Given the description of an element on the screen output the (x, y) to click on. 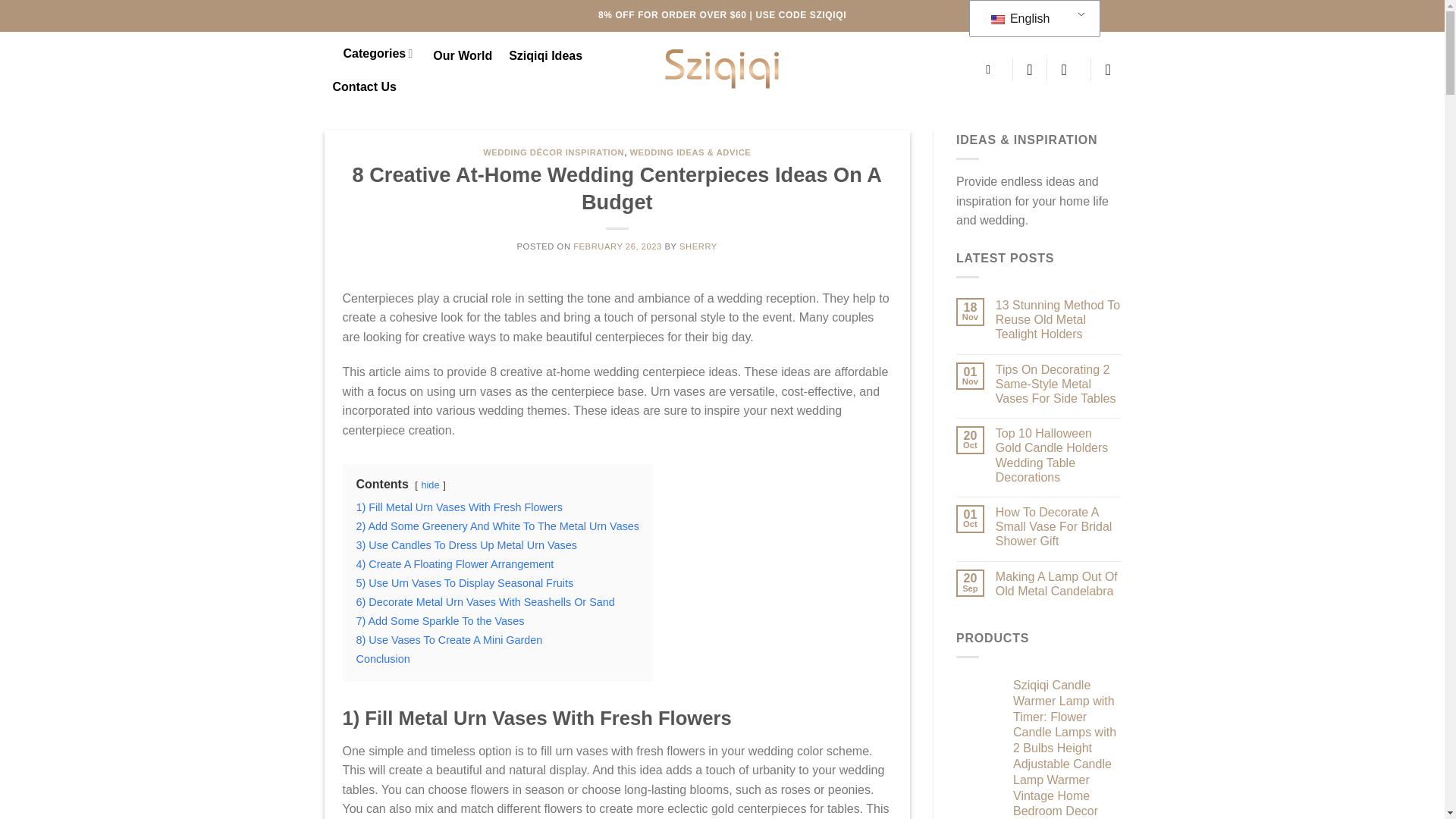
Categories (370, 53)
FEBRUARY 26, 2023 (617, 245)
English (1031, 19)
Contact Us (363, 86)
Our World (462, 55)
Sziqiqi Ideas (545, 55)
English (1031, 19)
English (997, 19)
